Given the description of an element on the screen output the (x, y) to click on. 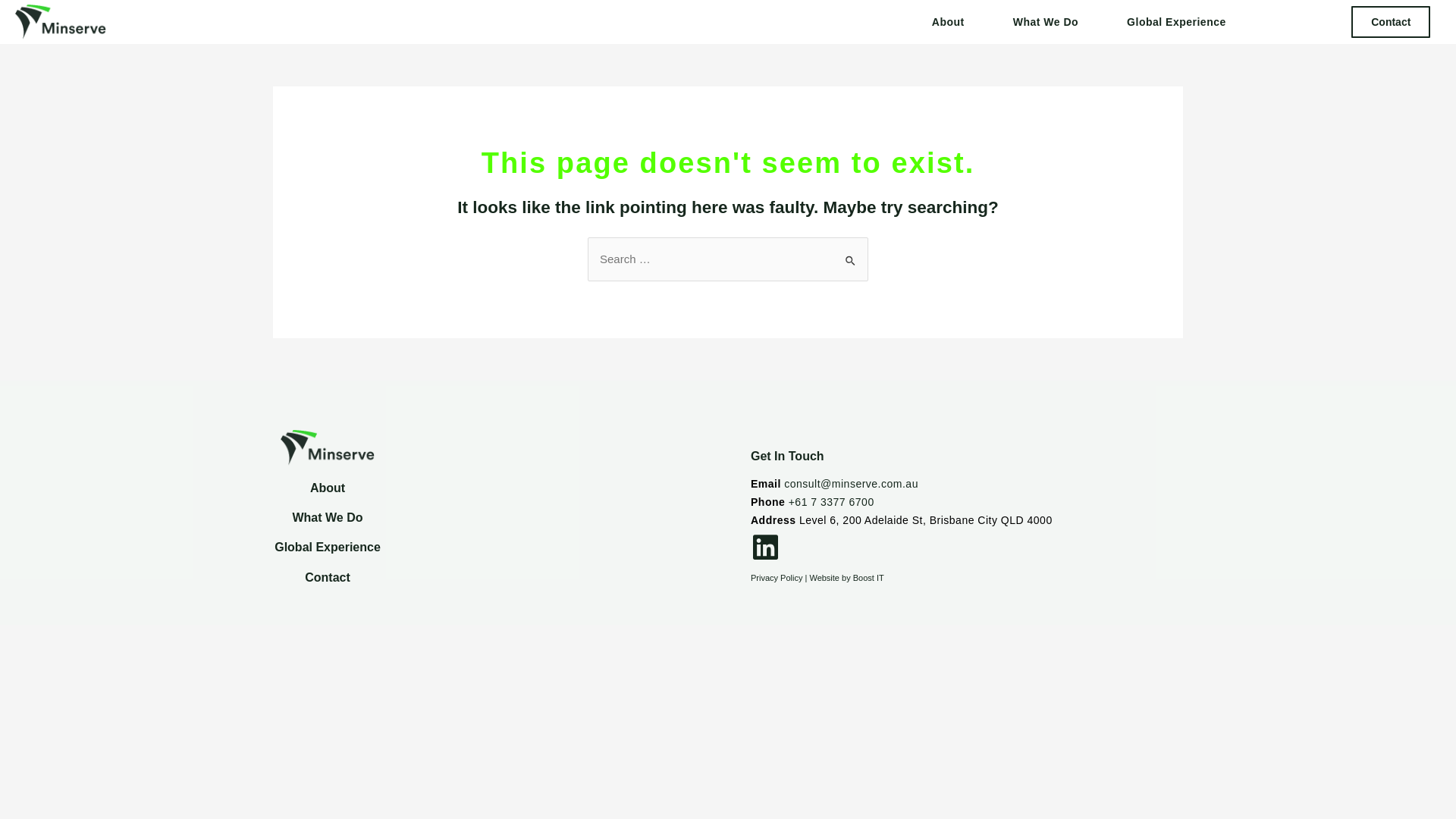
consult@minserve.com.au Element type: text (851, 483)
Contact Element type: text (327, 577)
Global Experience Element type: text (1176, 21)
Search Element type: text (851, 252)
Website by Boost IT Element type: text (846, 577)
Linkedin Element type: text (764, 547)
What We Do Element type: text (326, 517)
What We Do Element type: text (1049, 21)
About Element type: text (951, 21)
+61 7 3377 6700 Element type: text (831, 501)
Contact Element type: text (1390, 21)
Privacy Policy Element type: text (776, 577)
Global Experience Element type: text (327, 546)
About Element type: text (327, 487)
